Given the description of an element on the screen output the (x, y) to click on. 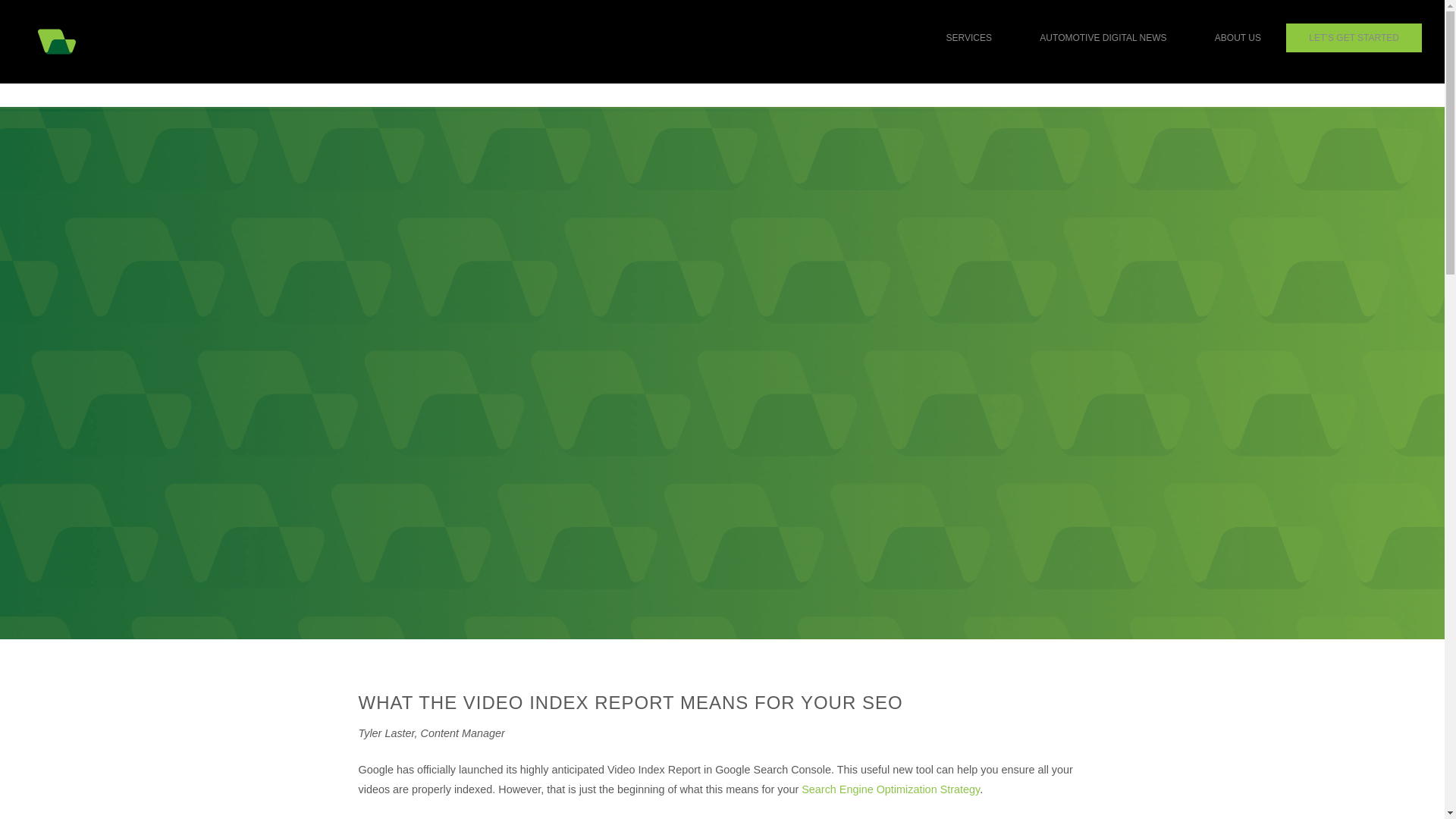
AUTOMOTIVE DIGITAL NEWS (1102, 38)
Search Engine Optimization Strategy (890, 788)
ABOUT US (1238, 38)
Home (56, 40)
SERVICES (968, 38)
